Given the description of an element on the screen output the (x, y) to click on. 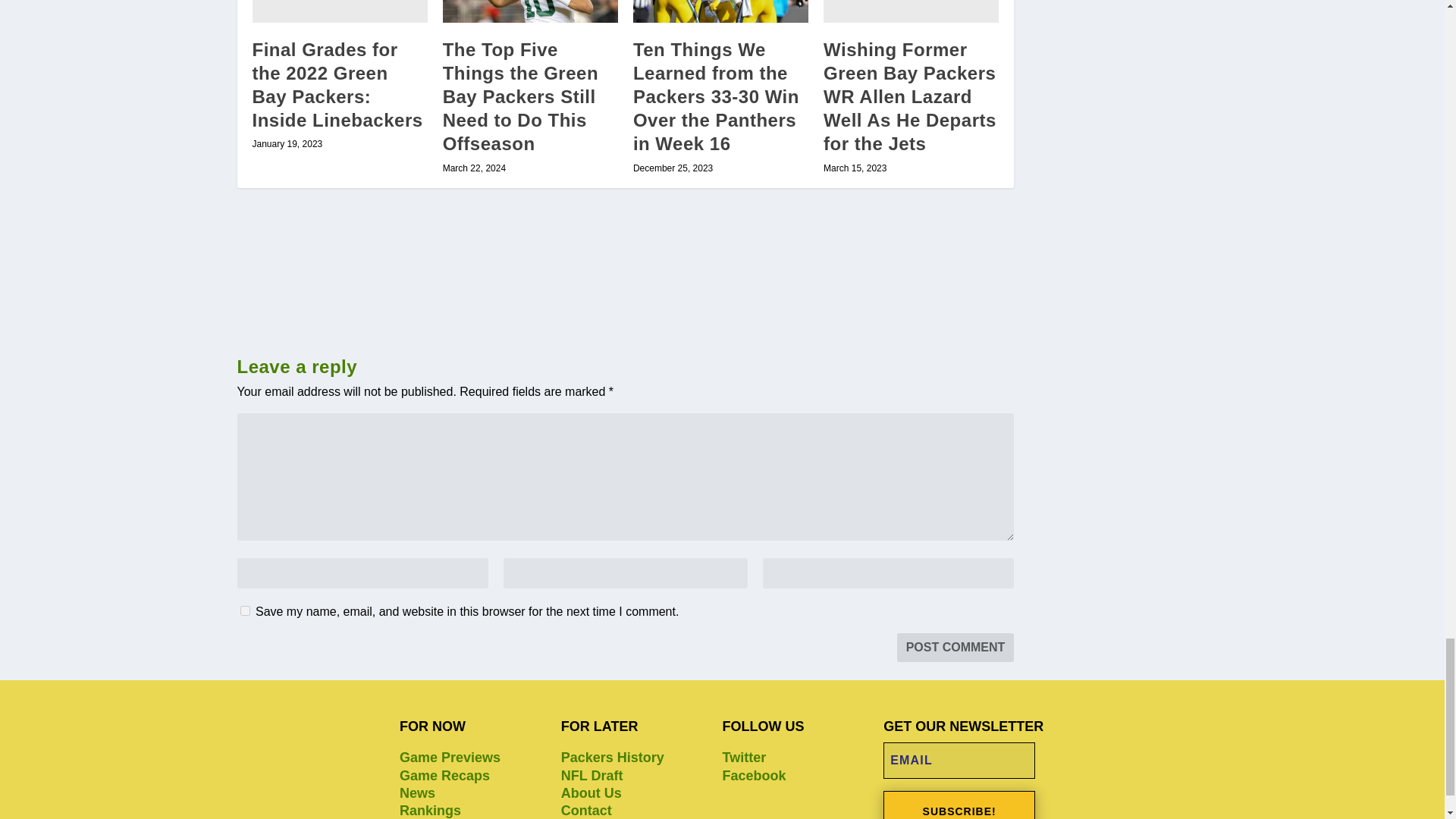
yes (244, 610)
Post Comment (955, 647)
